Given the description of an element on the screen output the (x, y) to click on. 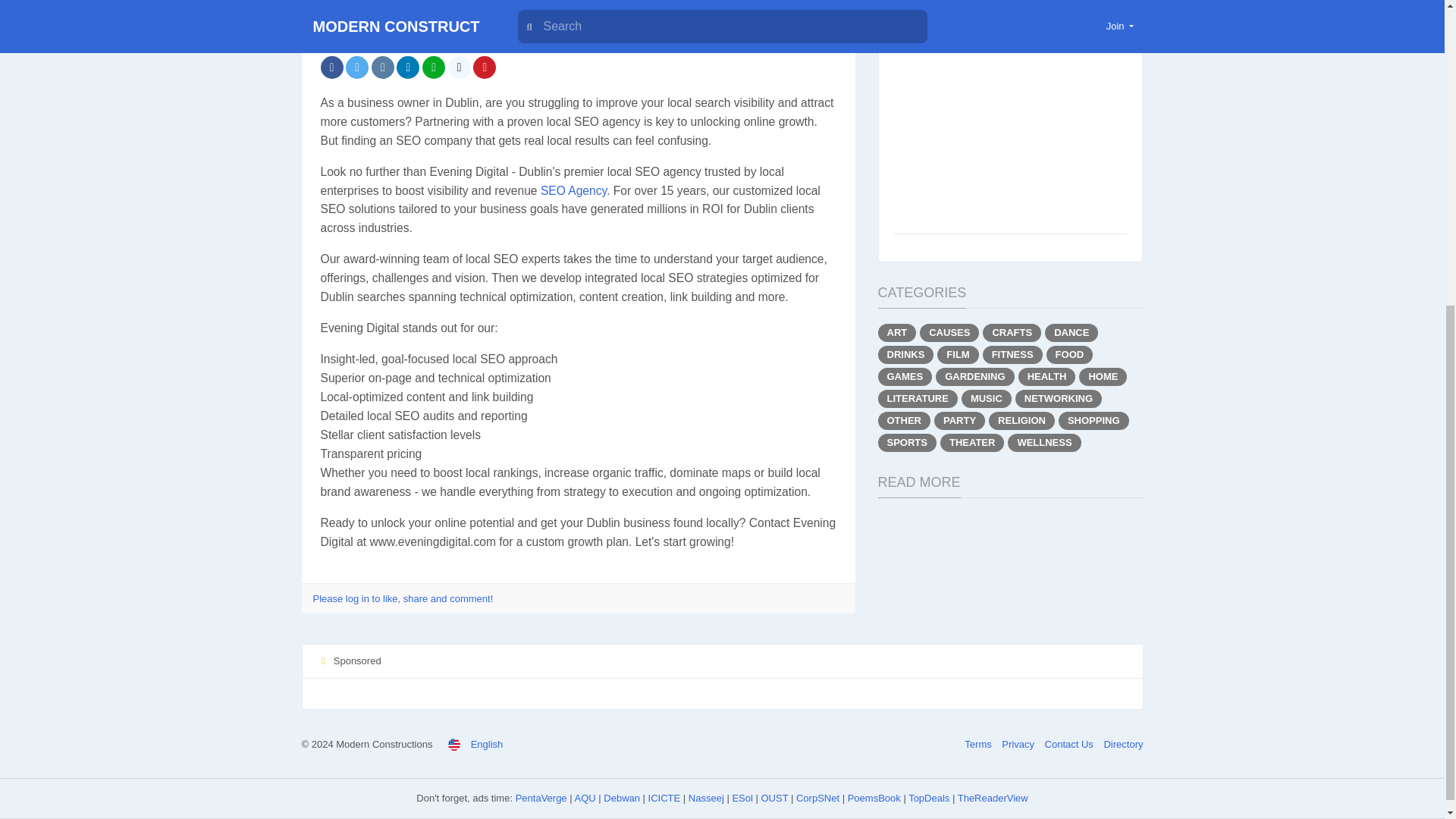
0 (760, 22)
Article Blog (382, 17)
Advertisement (1009, 126)
FITNESS (1012, 354)
SEO Agency (573, 189)
DRINKS (905, 354)
CRAFTS (1011, 332)
DANCE (1071, 332)
Please log in to like, share and comment! (403, 598)
FOOD (1069, 354)
